Given the description of an element on the screen output the (x, y) to click on. 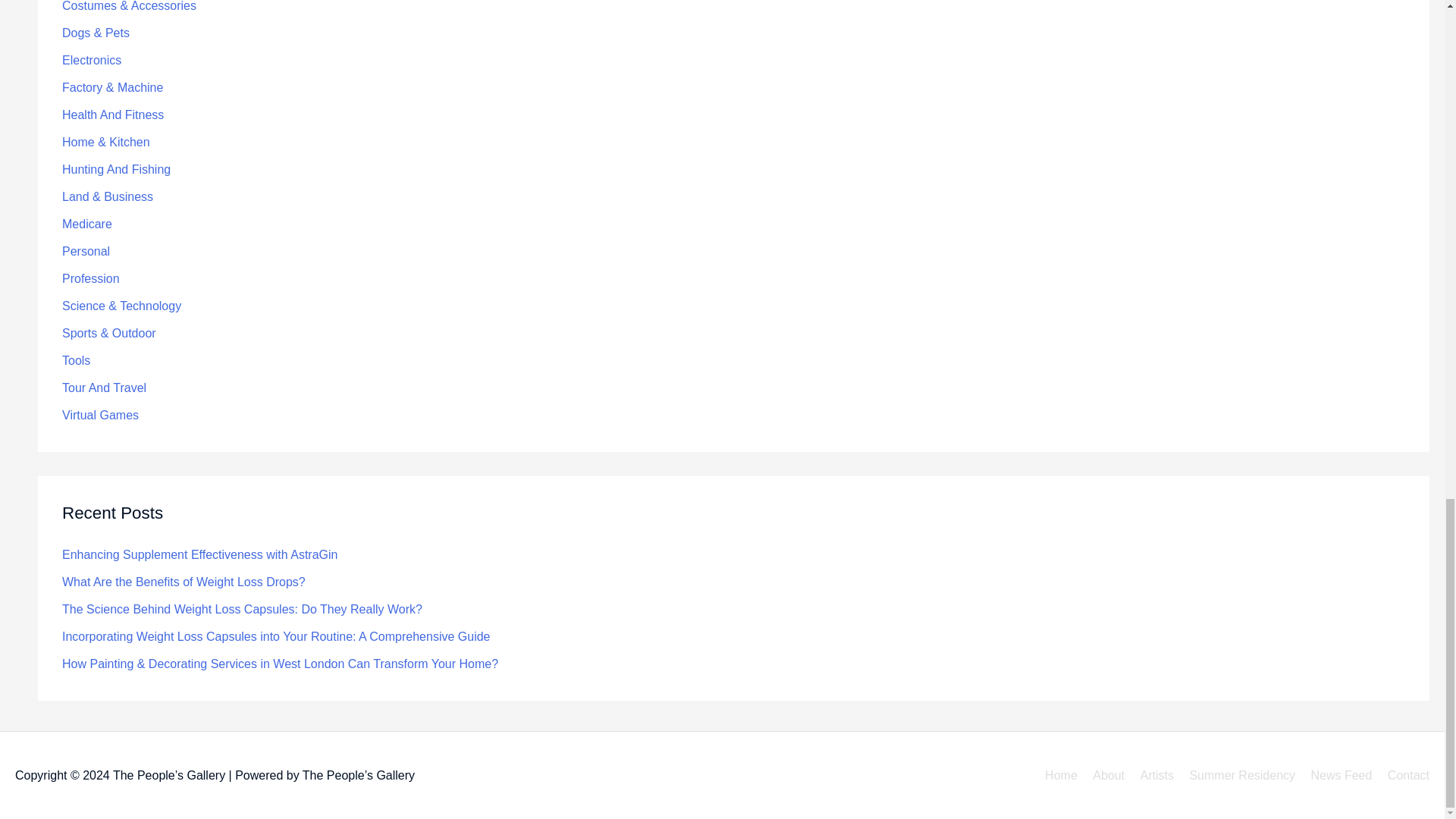
Tools (76, 359)
Tour And Travel (104, 387)
What Are the Benefits of Weight Loss Drops? (183, 581)
Health And Fitness (112, 114)
Virtual Games (100, 414)
Enhancing Supplement Effectiveness with AstraGin (199, 554)
Personal (86, 250)
Electronics (91, 60)
Medicare (87, 223)
Profession (90, 278)
Hunting And Fishing (116, 169)
